Given the description of an element on the screen output the (x, y) to click on. 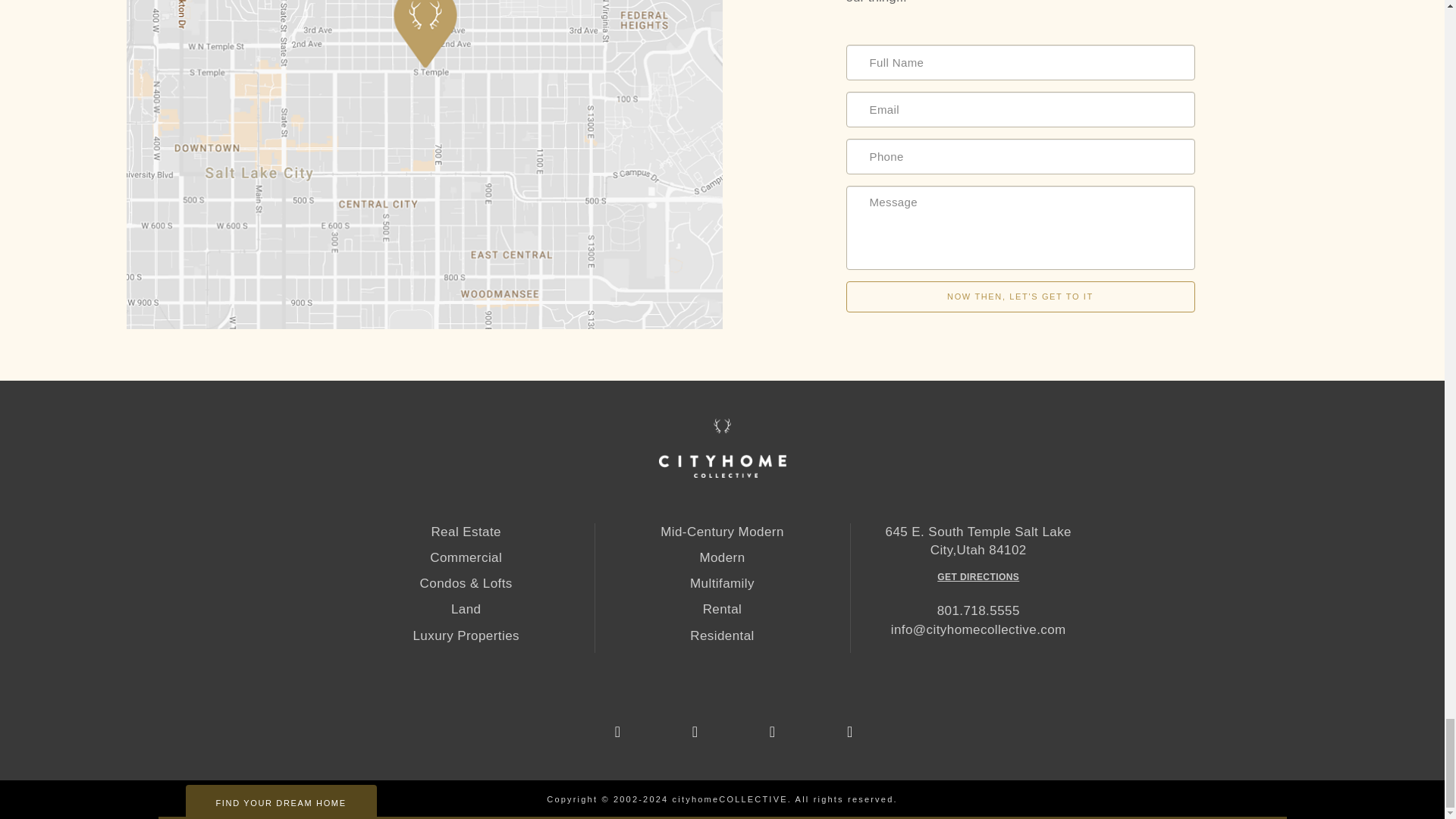
Residental (722, 636)
Mid-Century Modern (722, 532)
Multifamily (722, 583)
Modern (722, 557)
Rental (722, 609)
GET DIRECTIONS (977, 576)
Real Estate (466, 532)
Commercial (466, 557)
Luxury Properties (466, 636)
Land (466, 609)
NOW THEN, LET'S GET TO IT (1020, 296)
